Given the description of an element on the screen output the (x, y) to click on. 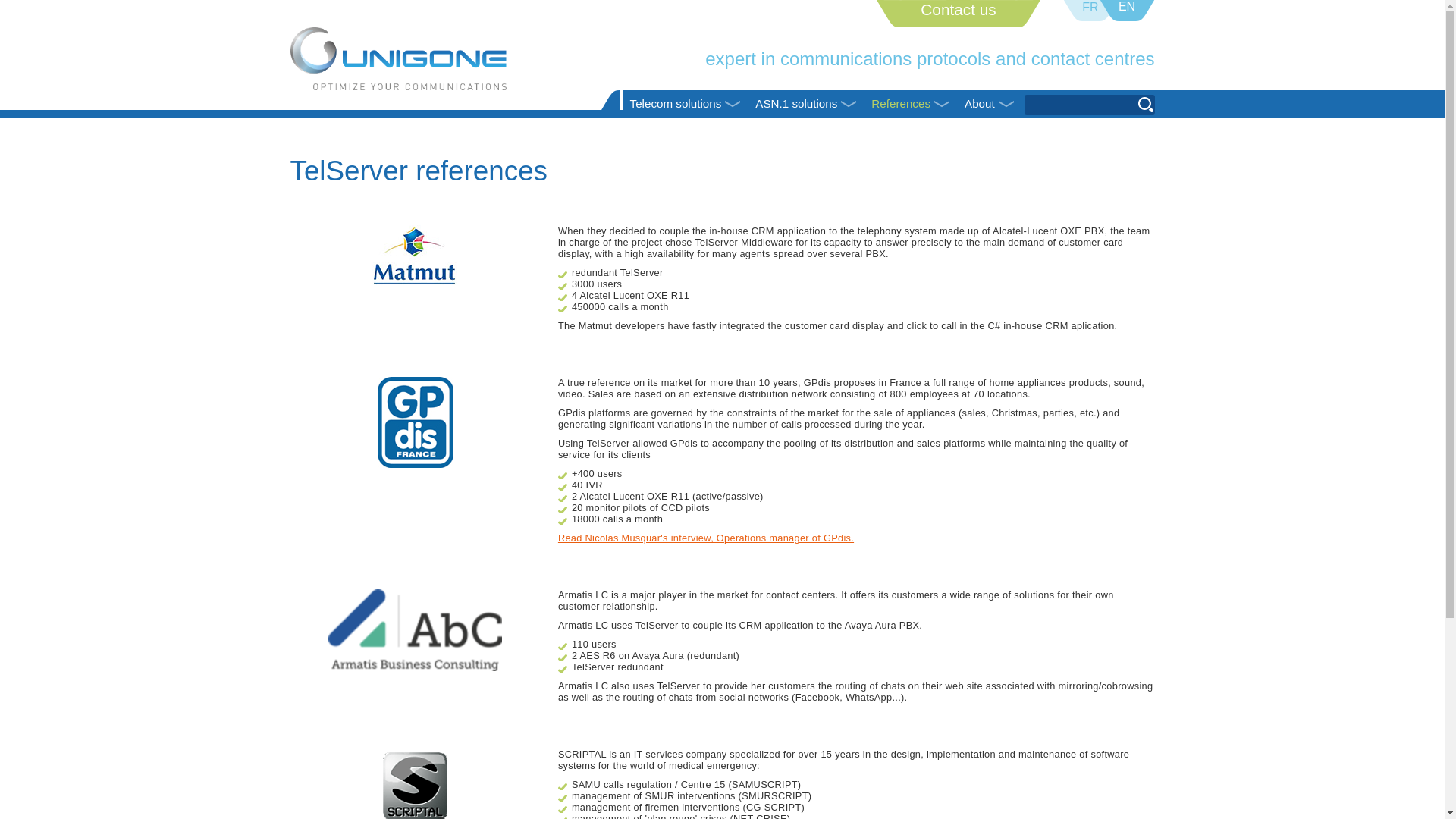
Search (1145, 104)
References (909, 103)
ASN.1 solutions (805, 103)
About (989, 103)
Contact us (957, 9)
Contact form (957, 9)
FR (1089, 6)
Telecom solutions (685, 103)
